Given the description of an element on the screen output the (x, y) to click on. 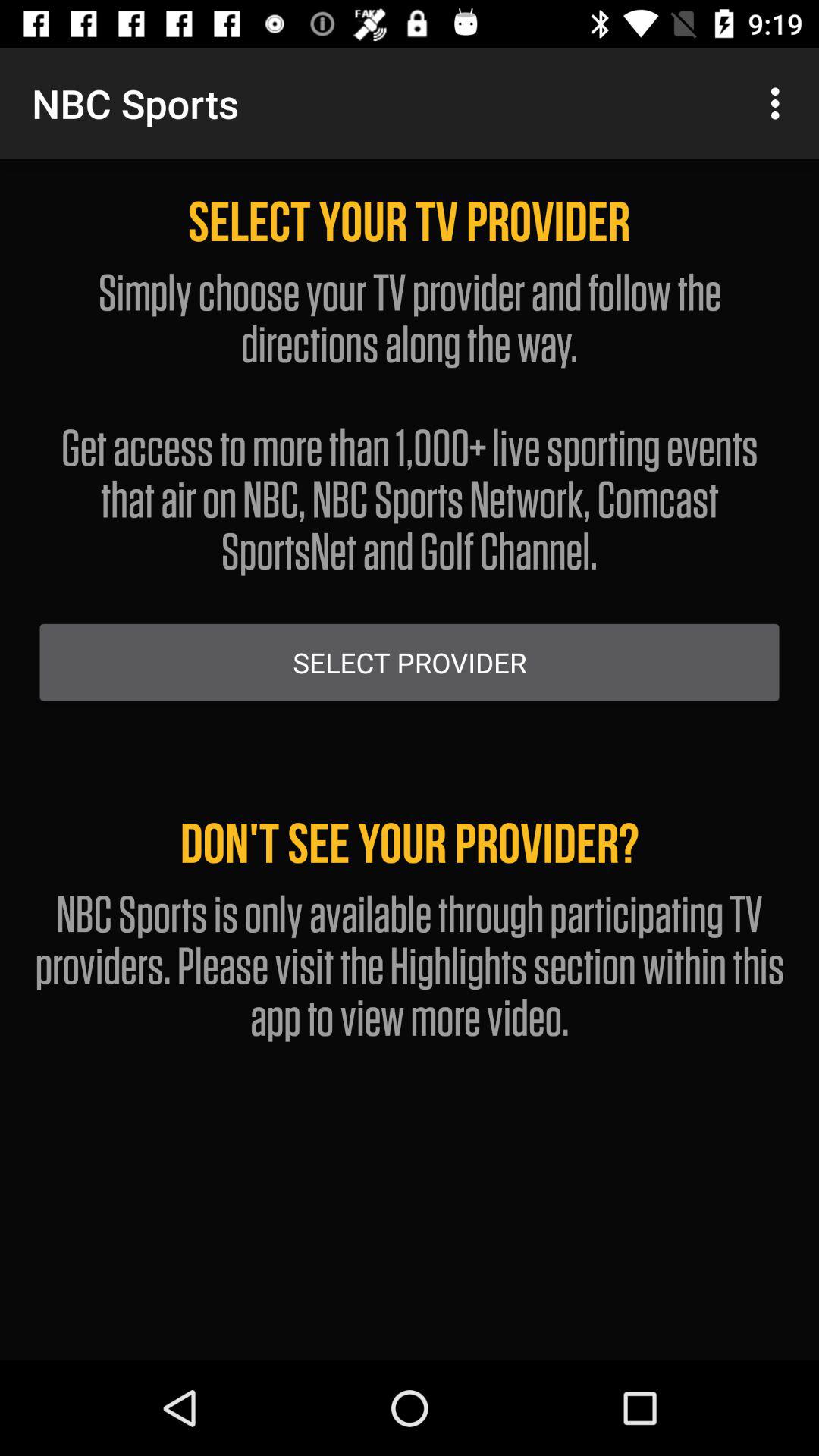
turn on the icon to the right of the nbc sports icon (779, 103)
